Given the description of an element on the screen output the (x, y) to click on. 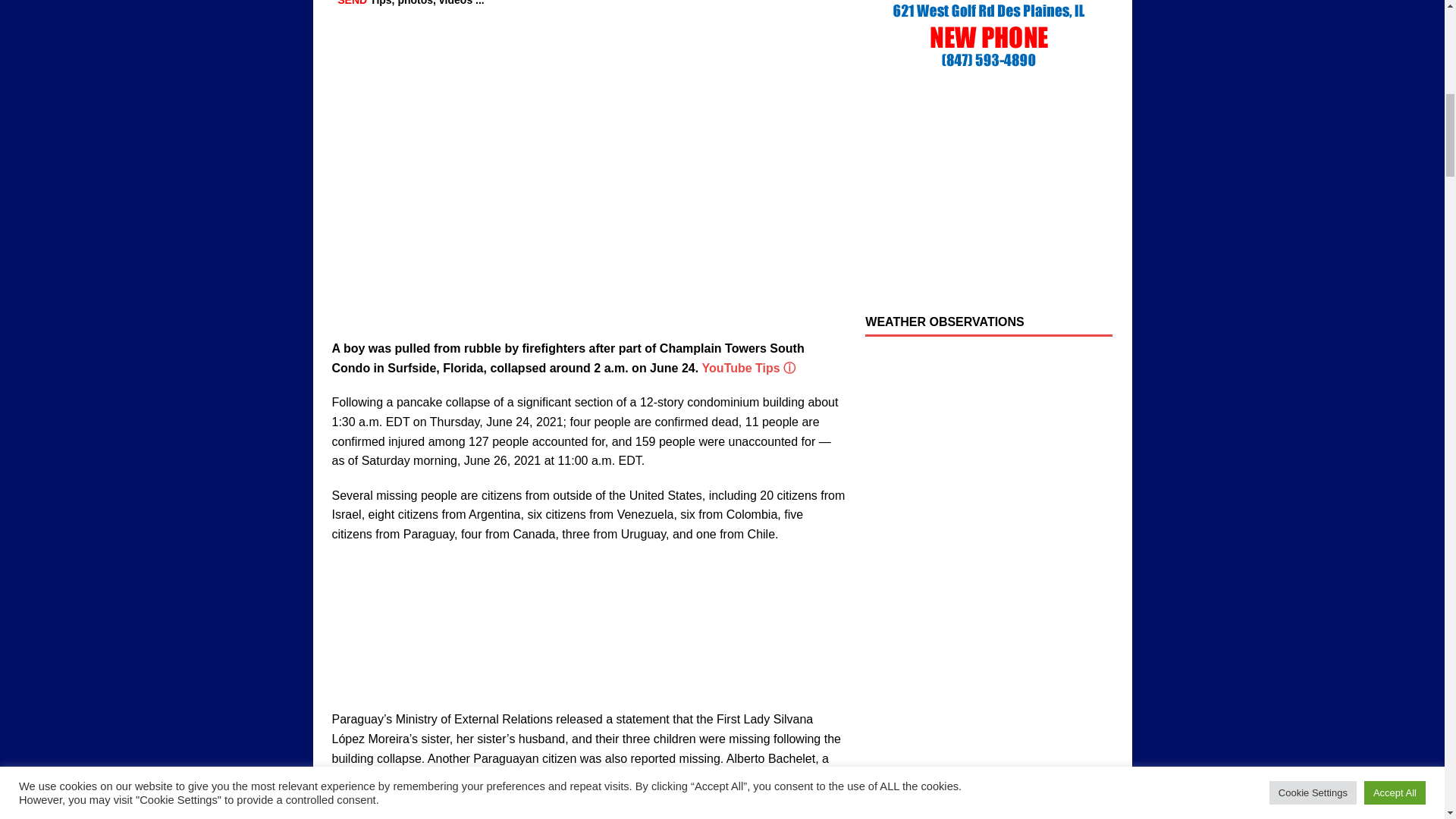
Advertisement (588, 636)
Advertisement (988, 196)
